Given the description of an element on the screen output the (x, y) to click on. 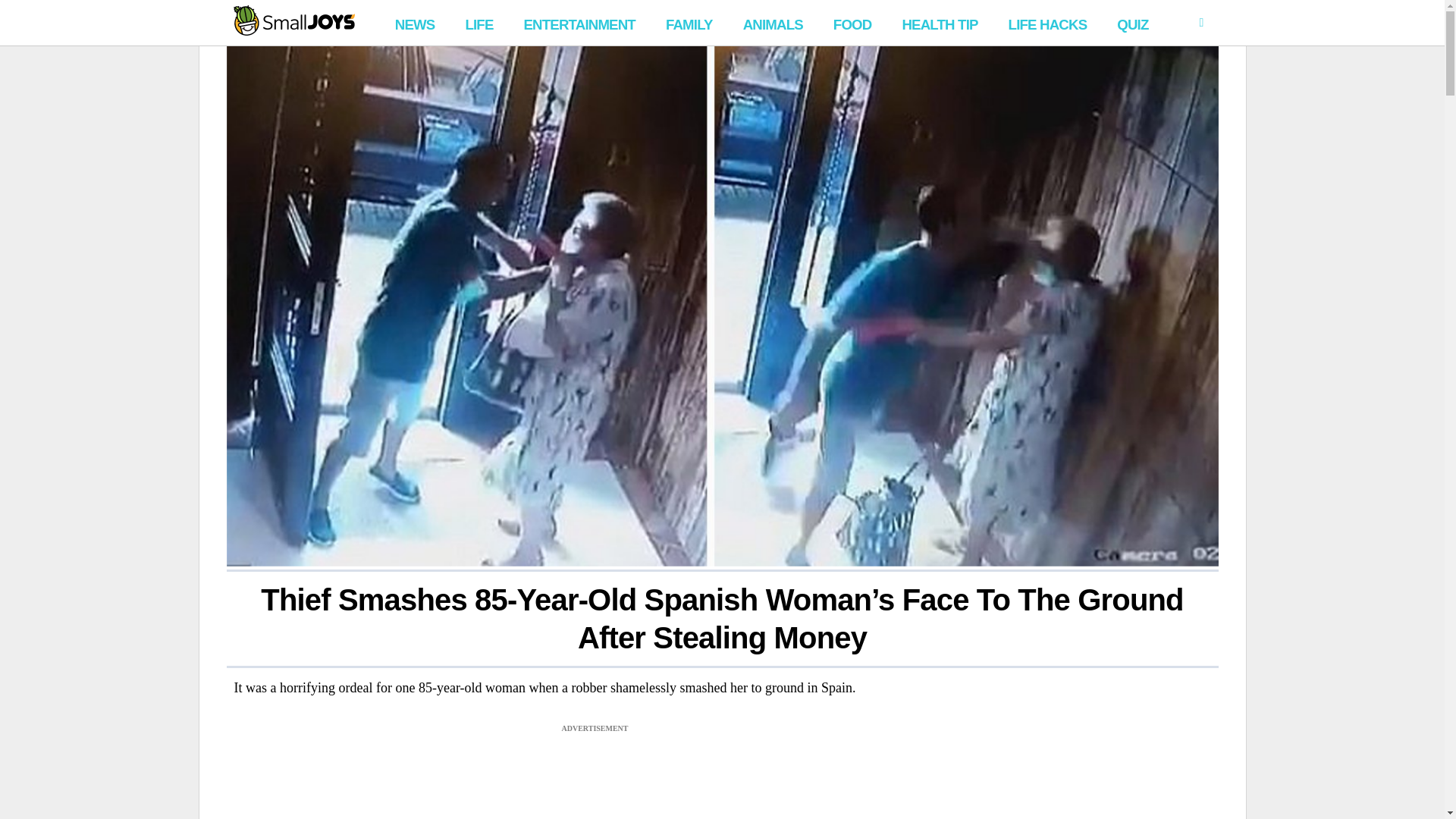
ANIMALS (772, 22)
ENTERTAINMENT (578, 22)
LIFE HACKS (1047, 22)
HEALTH TIP (939, 22)
QUIZ (1132, 22)
FOOD (852, 22)
LIFE (478, 22)
NEWS (414, 22)
FAMILY (689, 22)
